Given the description of an element on the screen output the (x, y) to click on. 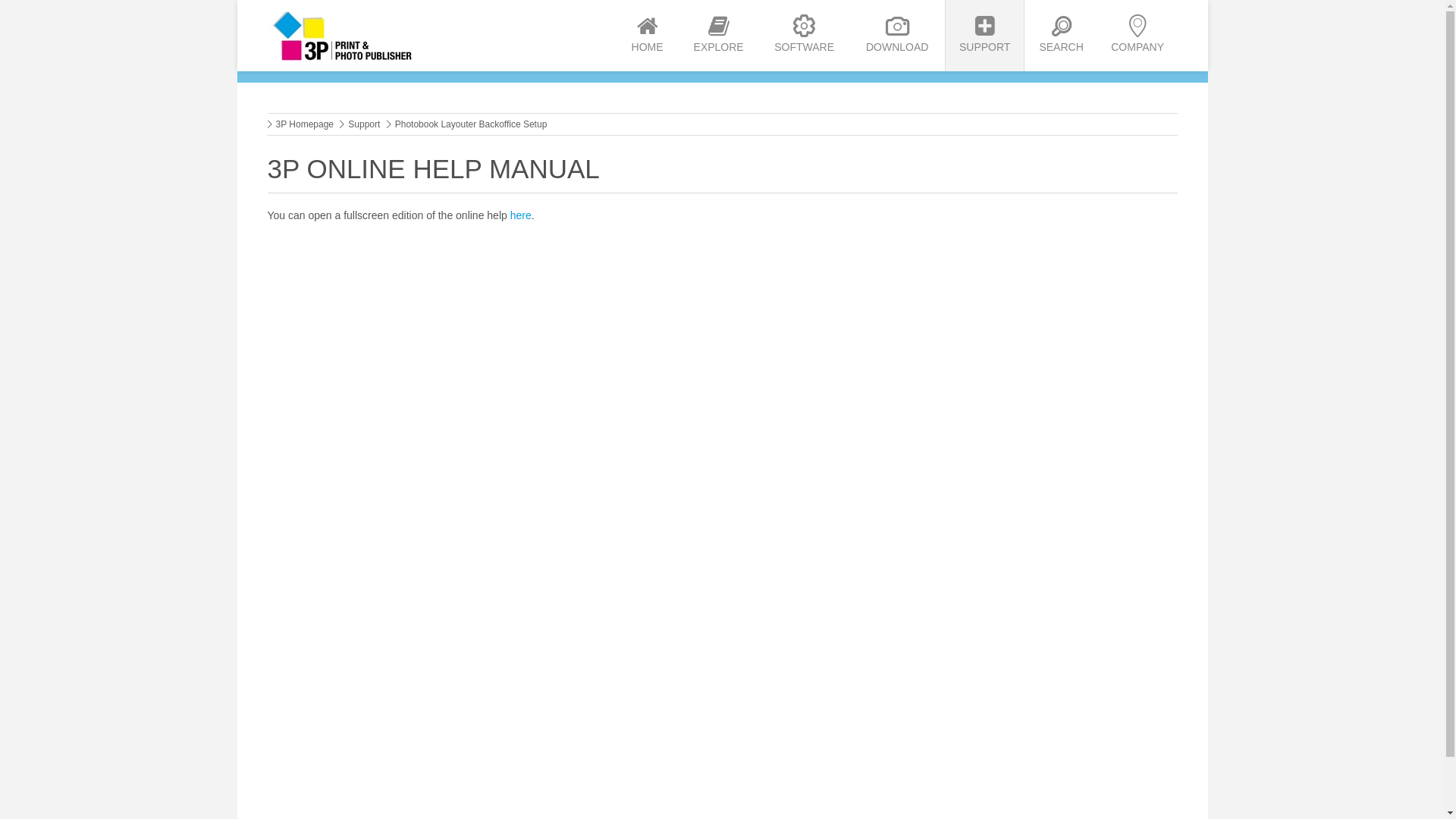
here Element type: text (520, 215)
EXPLORE Element type: text (718, 35)
SEARCH Element type: text (1060, 35)
SUPPORT Element type: text (984, 35)
3P Homepage Element type: text (305, 124)
HOME Element type: text (647, 35)
DOWNLOAD Element type: text (896, 35)
COMPANY Element type: text (1137, 35)
SOFTWARE Element type: text (804, 35)
Support Element type: text (363, 124)
